Given the description of an element on the screen output the (x, y) to click on. 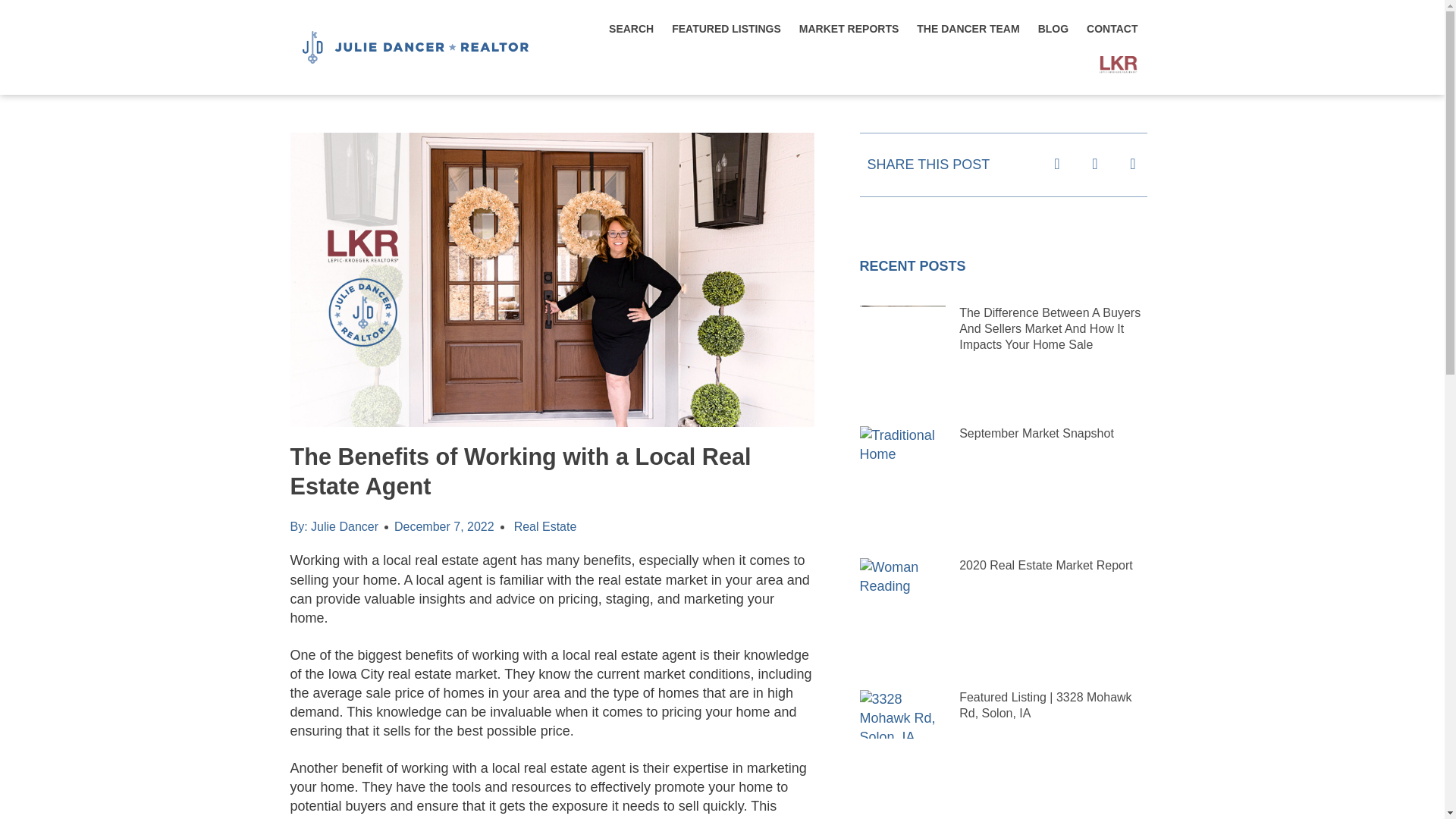
December 7, 2022 (444, 526)
THE DANCER TEAM (967, 28)
SEARCH (630, 28)
Real Estate (544, 526)
MARKET REPORTS (848, 28)
2020 Real Estate Market Report (1045, 564)
CONTACT (1112, 28)
September Market Snapshot (1036, 432)
By: Julie Dancer (333, 526)
